Given the description of an element on the screen output the (x, y) to click on. 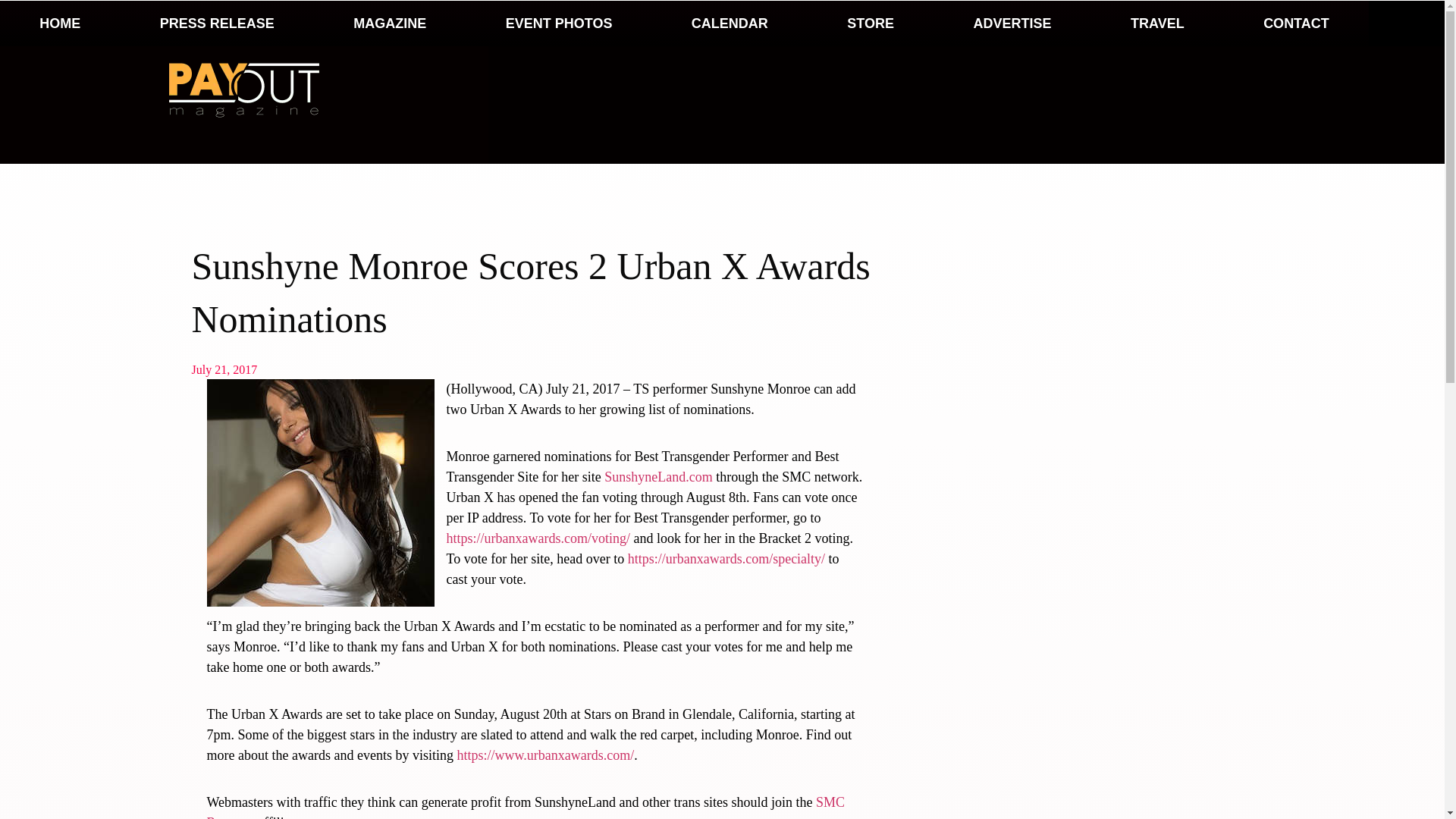
TRAVEL (1157, 22)
PRESS RELEASE (216, 22)
EVENT PHOTOS (557, 22)
SMC Revenue (525, 806)
CALENDAR (730, 22)
STORE (870, 22)
July 21, 2017 (223, 370)
ADVERTISE (1011, 22)
SunshyneLand.com (657, 476)
HOME (59, 22)
MAGAZINE (389, 22)
CONTACT (1296, 22)
